Given the description of an element on the screen output the (x, y) to click on. 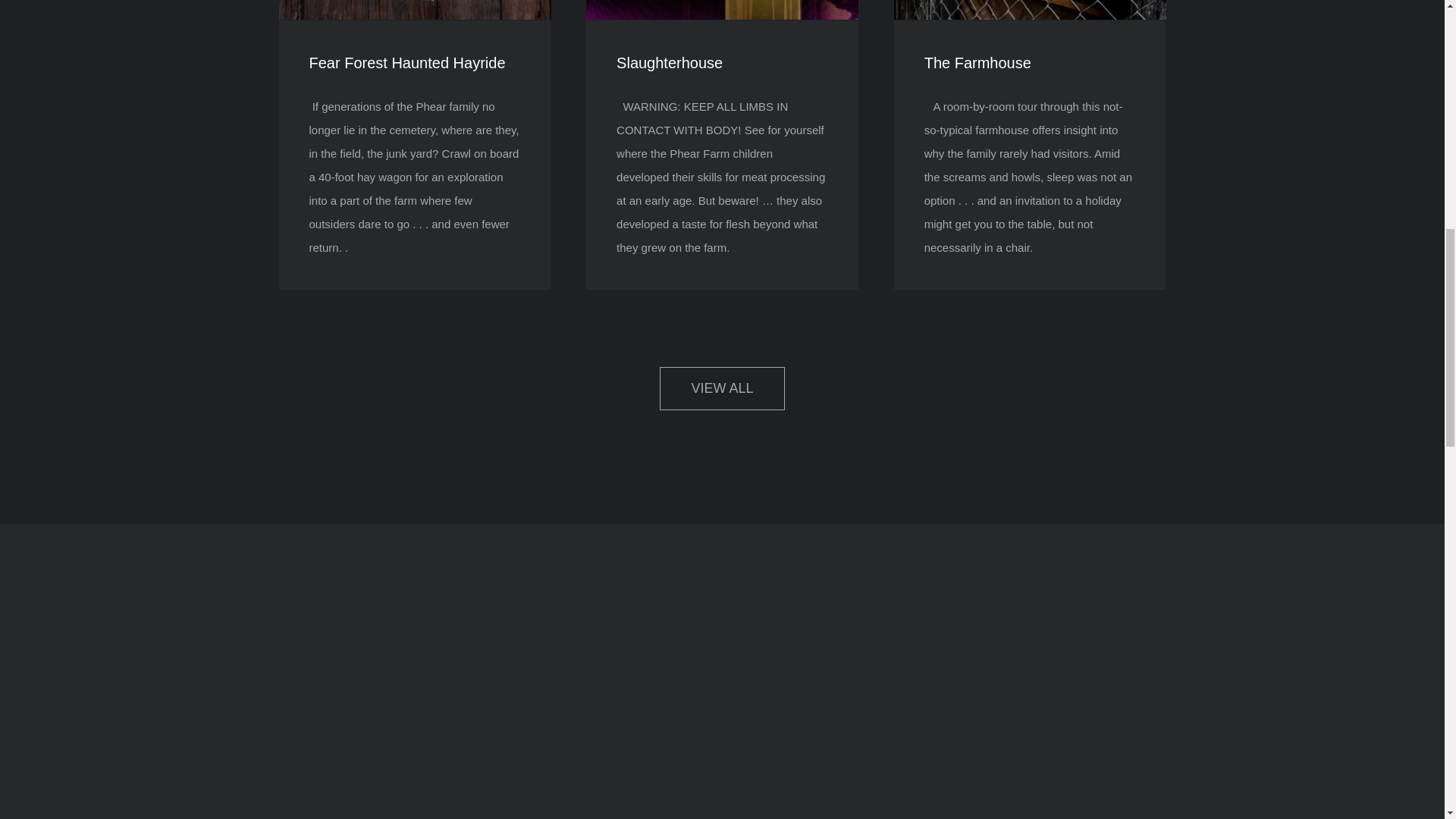
VIEW ALL (721, 388)
